Given the description of an element on the screen output the (x, y) to click on. 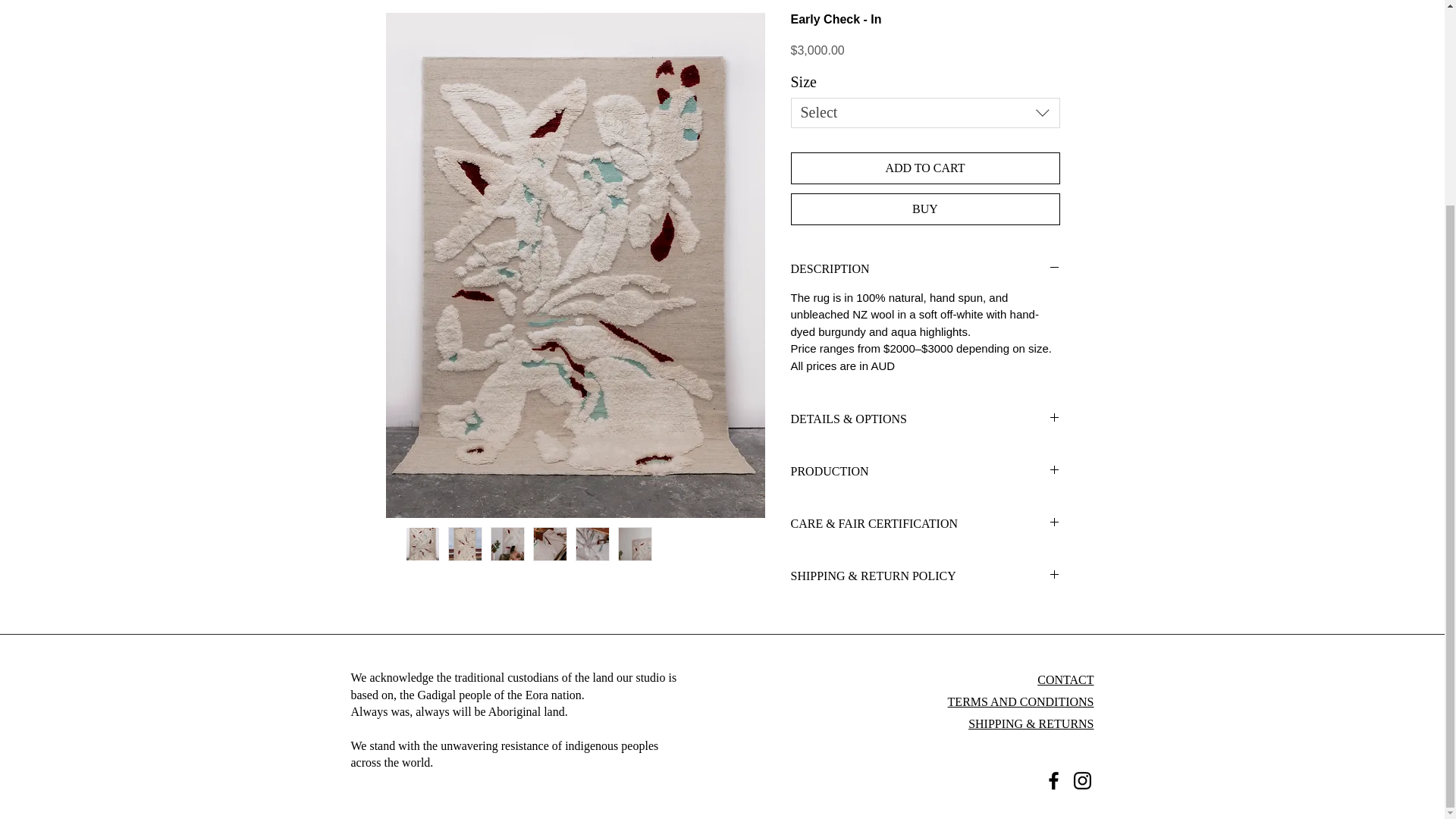
DESCRIPTION (924, 268)
ADD TO CART (924, 168)
Select (924, 112)
BUY (924, 209)
CONTACT (1064, 679)
PRODUCTION (924, 471)
TERMS AND CONDITIONS (1020, 701)
